Given the description of an element on the screen output the (x, y) to click on. 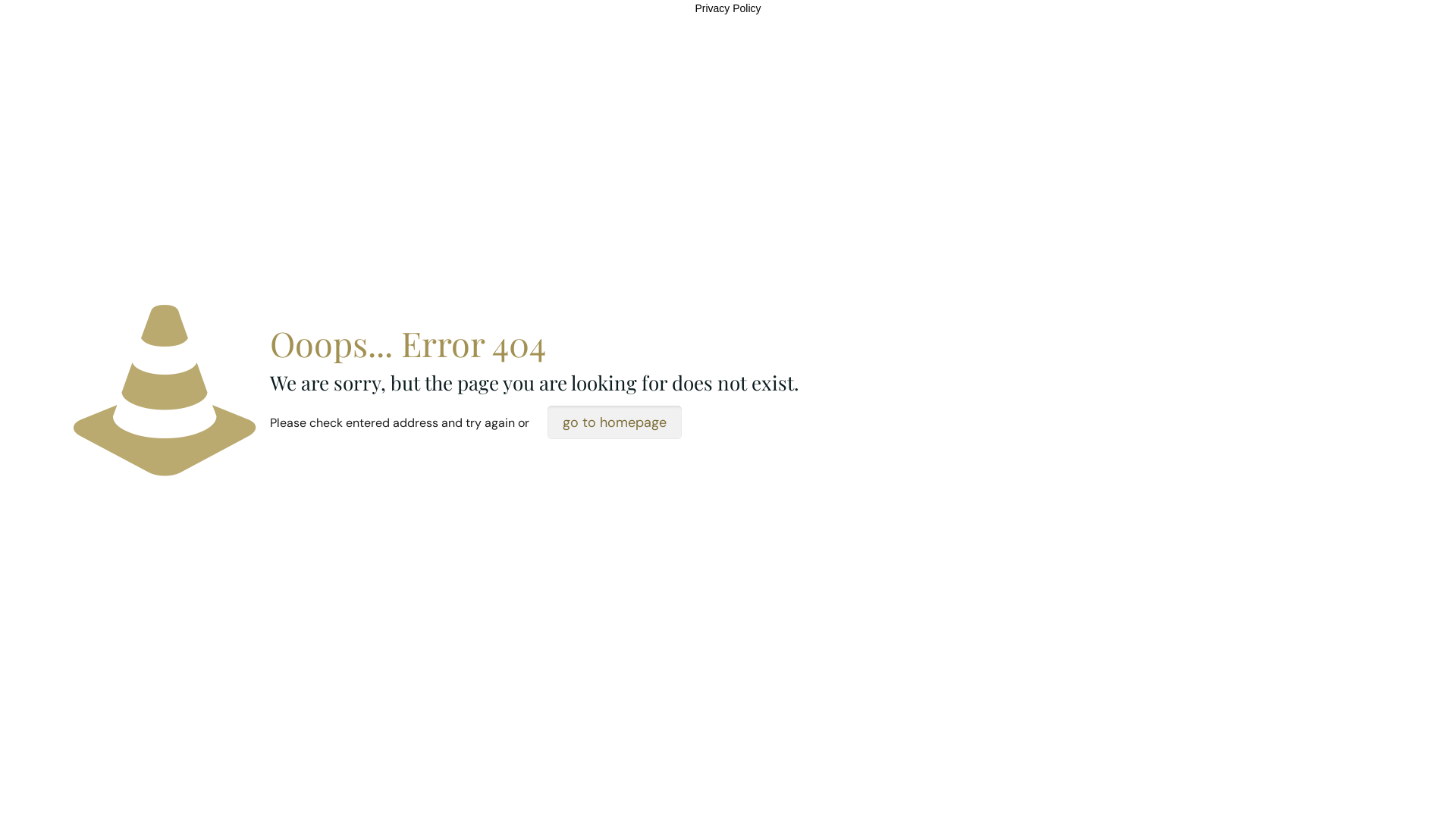
go to homepage Element type: text (614, 422)
Privacy Policy Element type: text (727, 8)
